Given the description of an element on the screen output the (x, y) to click on. 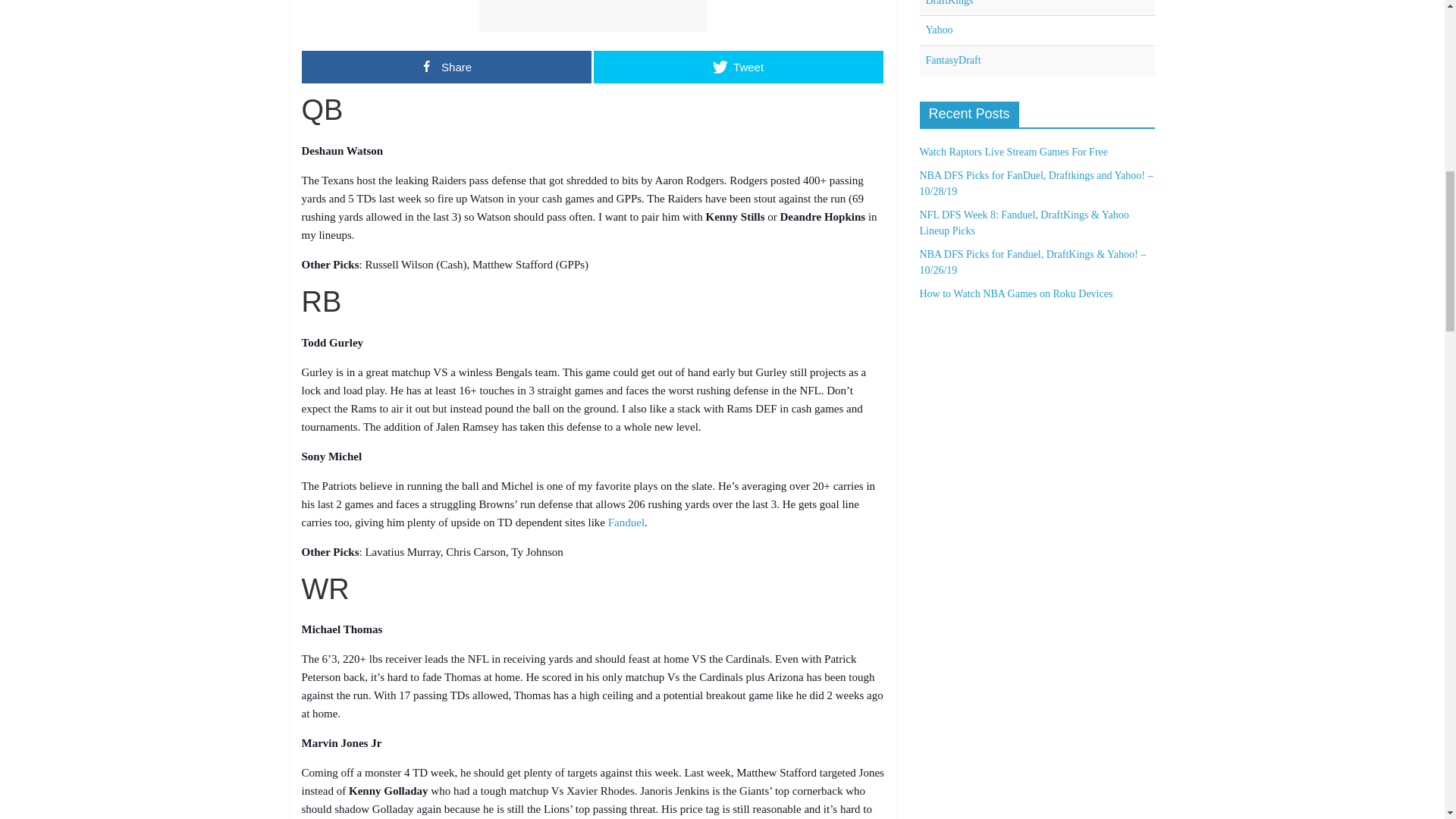
Fanduel (626, 522)
Tweet (737, 66)
Advertisement (592, 15)
Share (446, 66)
